Given the description of an element on the screen output the (x, y) to click on. 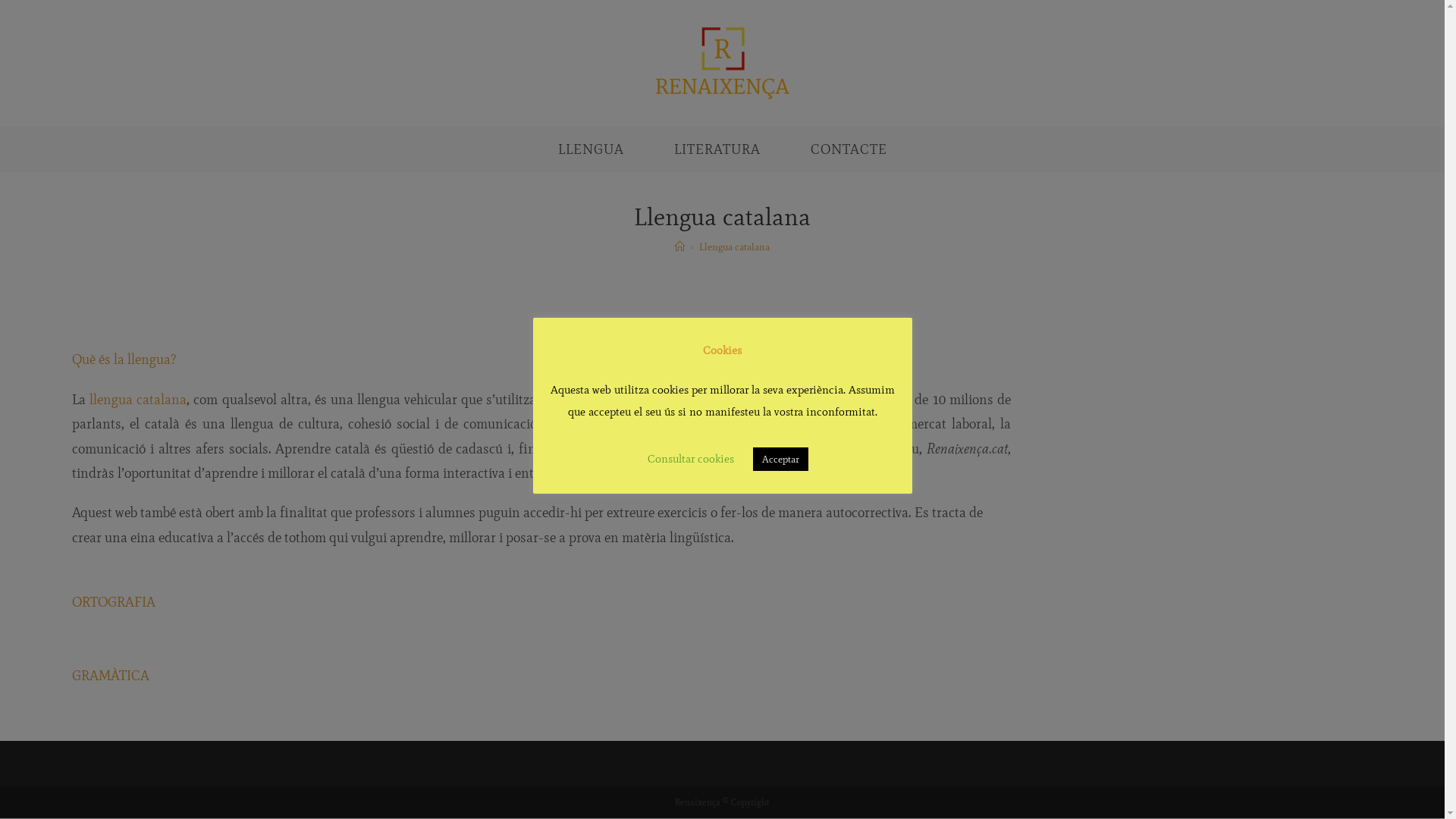
Advertisement Element type: hover (1214, 464)
CONTACTE Element type: text (848, 149)
Llengua catalana Element type: text (734, 246)
LITERATURA Element type: text (717, 149)
Acceptar Element type: text (780, 458)
Consultar cookies Element type: text (690, 458)
LLENGUA Element type: text (590, 149)
ORTOGRAFIA Element type: text (113, 613)
llengua catalana Element type: text (137, 399)
